Given the description of an element on the screen output the (x, y) to click on. 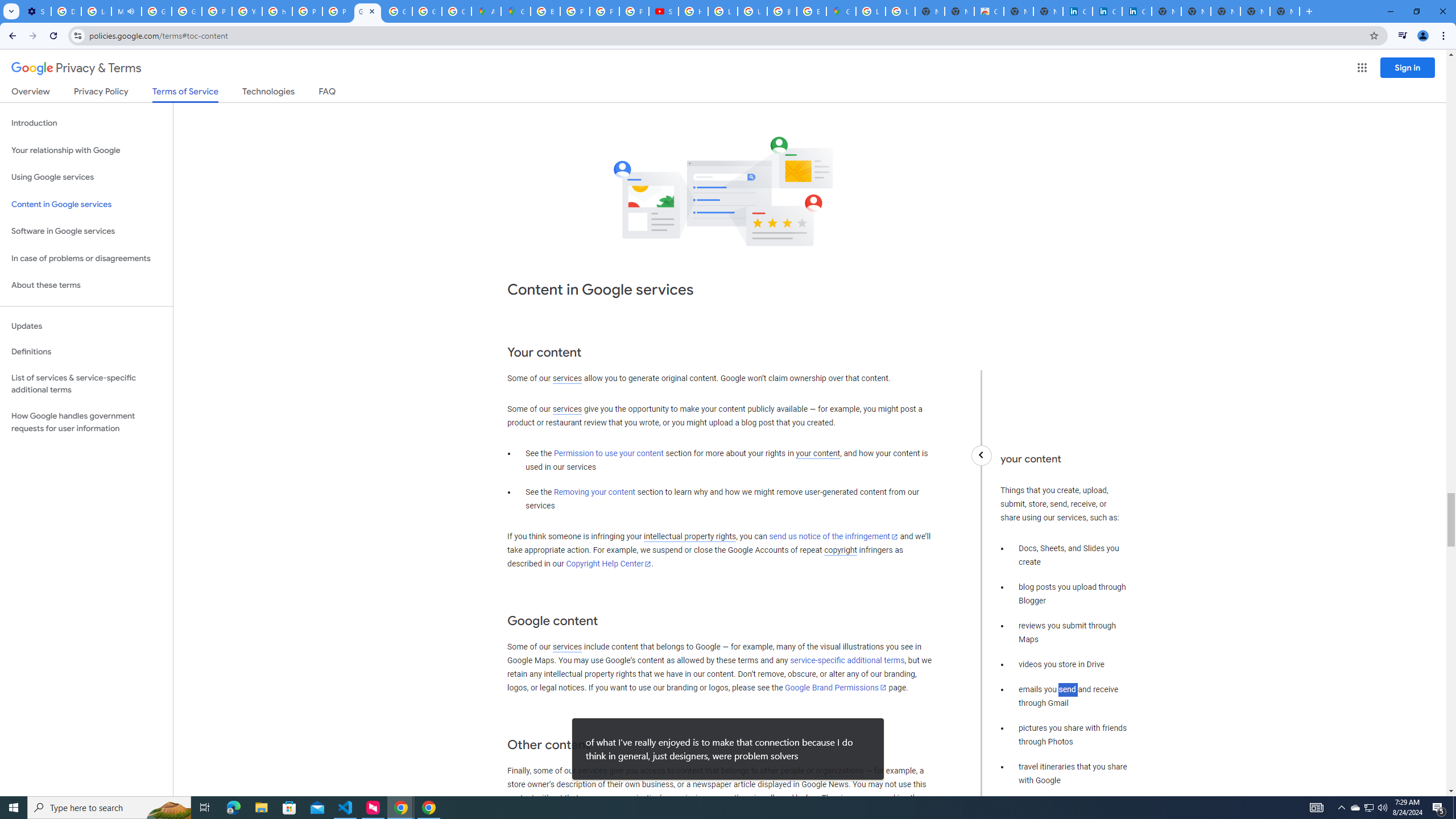
Google Maps (840, 11)
Software in Google services (86, 230)
Create your Google Account (456, 11)
New Tab (1284, 11)
Chrome Web Store (989, 11)
copyright (840, 550)
Delete photos & videos - Computer - Google Photos Help (65, 11)
Google Brand Permissions (835, 687)
Settings - Customize profile (36, 11)
List of services & service-specific additional terms (86, 383)
Cookie Policy | LinkedIn (1106, 11)
